Given the description of an element on the screen output the (x, y) to click on. 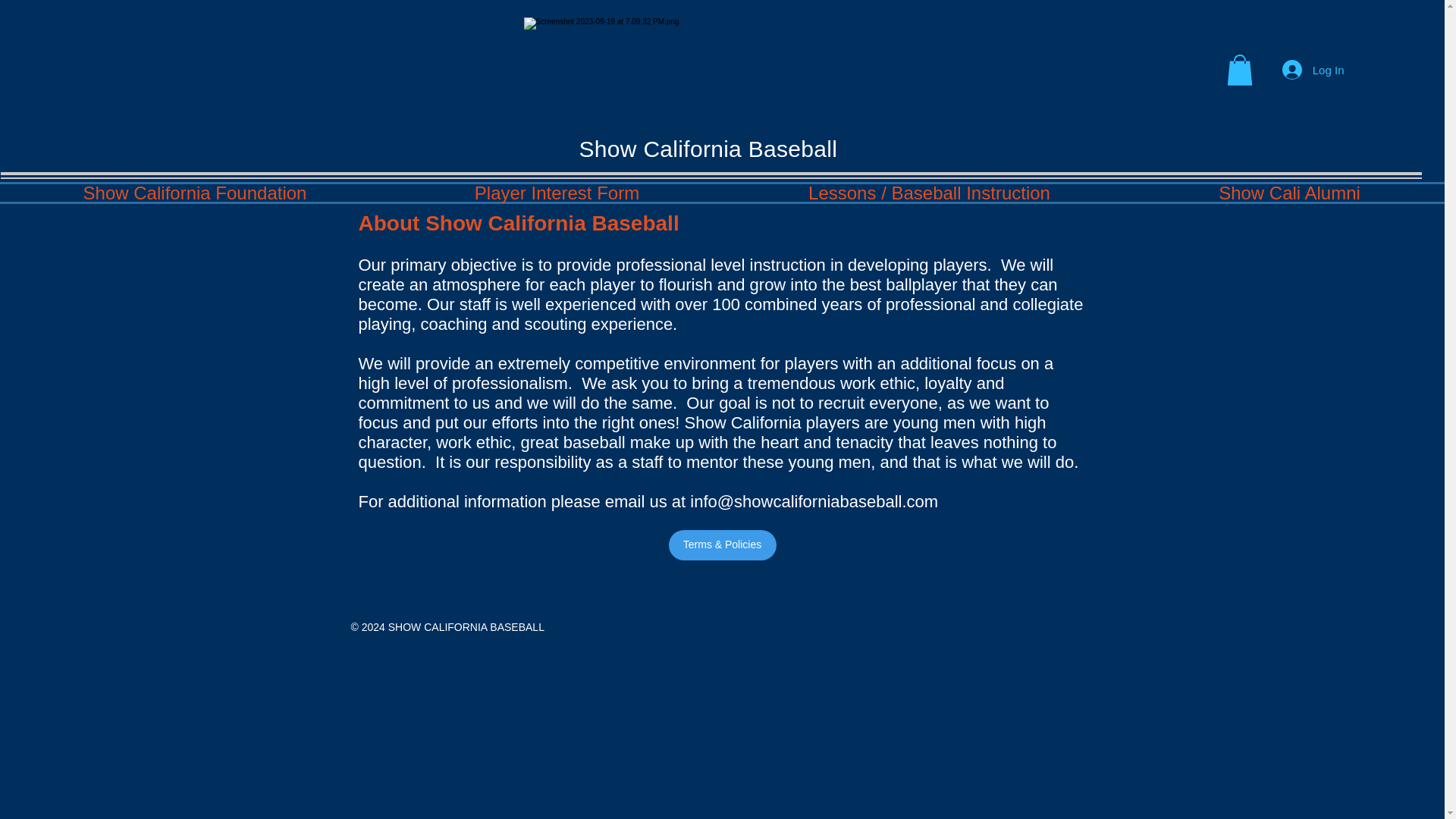
Show California Foundation (195, 192)
Player Interest Form (556, 192)
Log In (1313, 69)
